Given the description of an element on the screen output the (x, y) to click on. 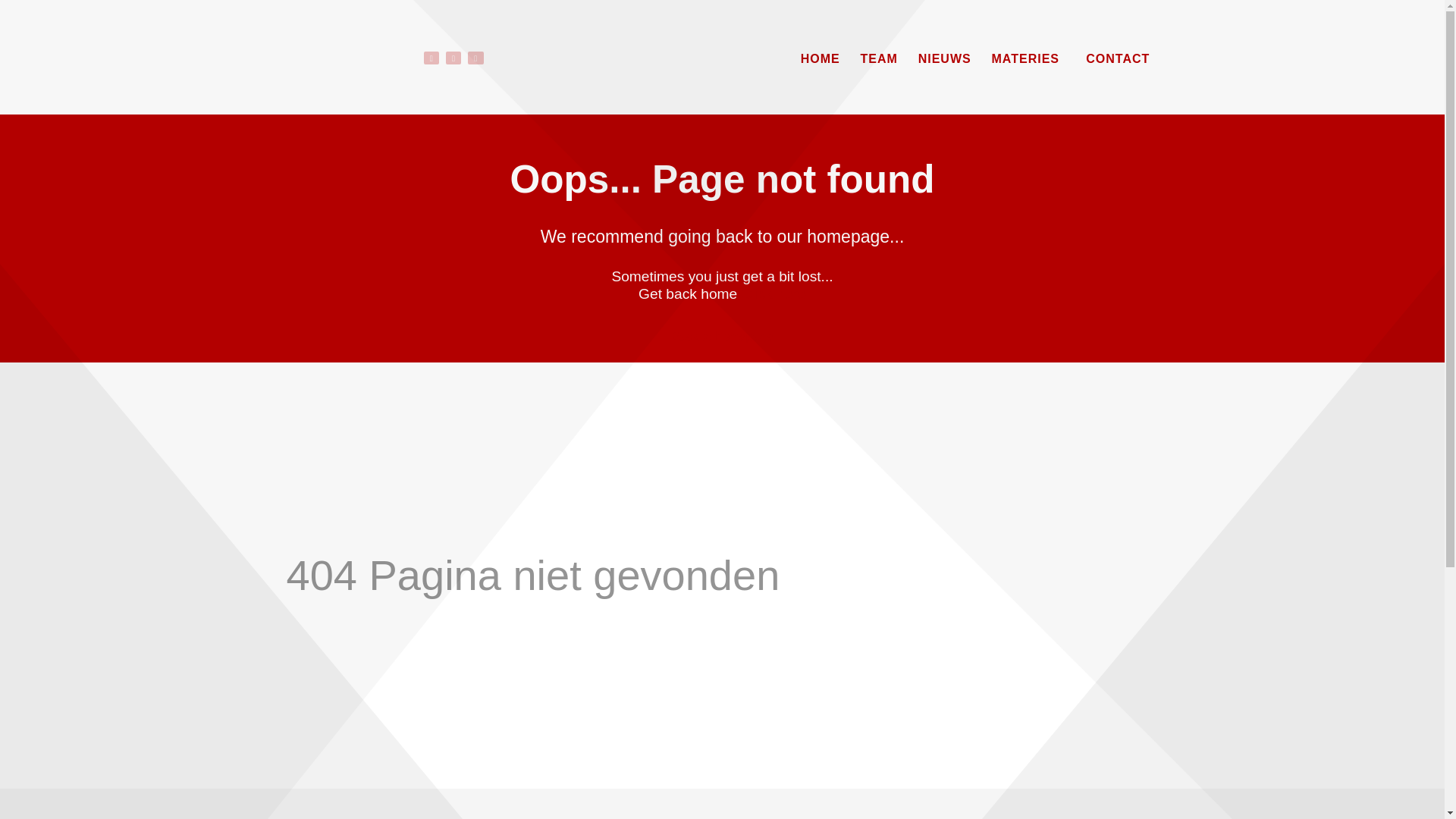
Click here Element type: text (773, 293)
HOME Element type: text (820, 58)
TEAM Element type: text (878, 58)
CONTACT Element type: text (1117, 58)
NIEUWS Element type: text (944, 58)
MATERIES Element type: text (1028, 58)
Back to homepage Element type: text (721, 335)
